Given the description of an element on the screen output the (x, y) to click on. 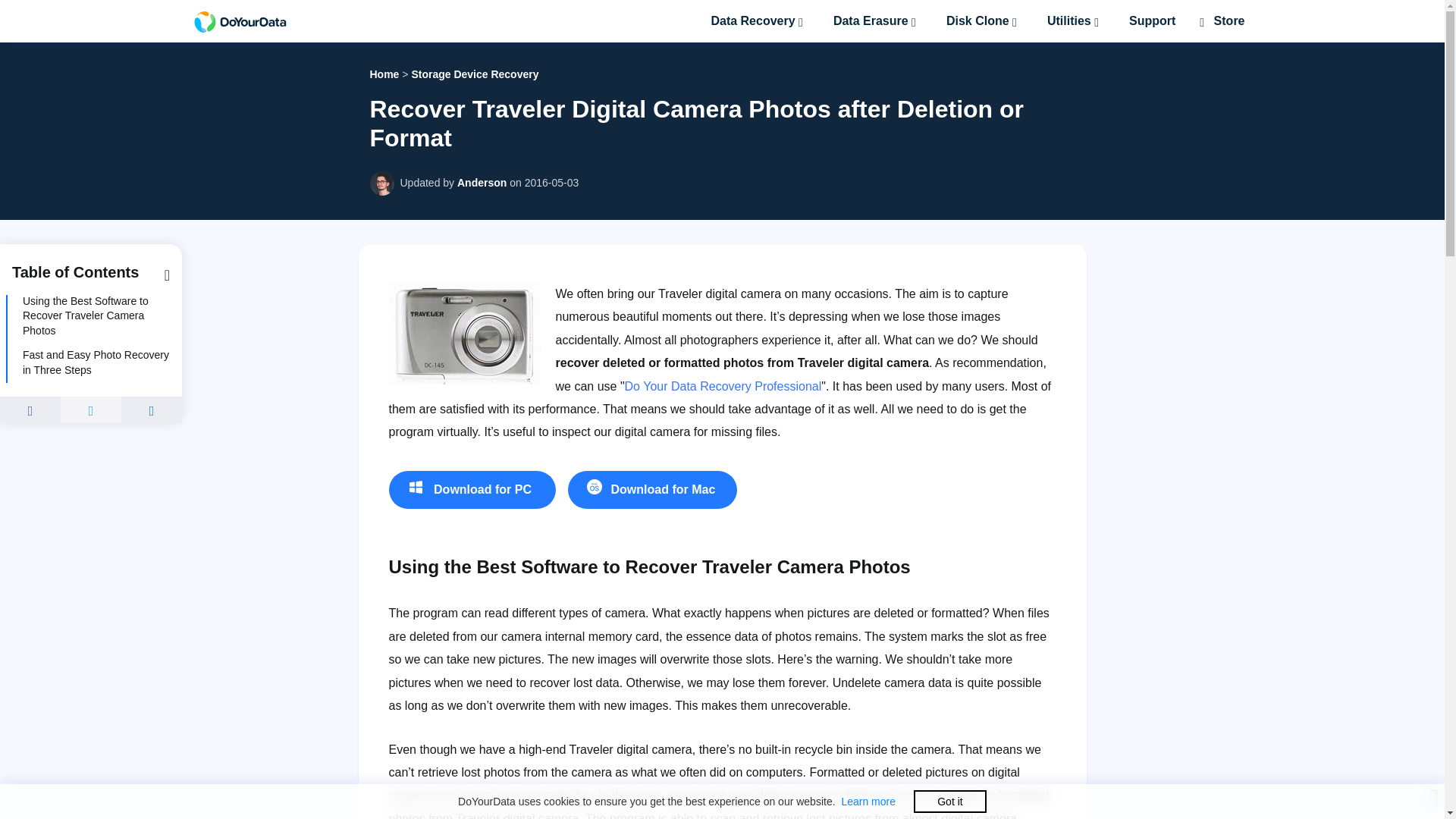
Download for PC (471, 489)
Disk Clone (984, 21)
Utilities (1075, 21)
Do Your Data Recovery Professional (723, 386)
Storage Device Recovery (474, 73)
Support (1152, 21)
Data Erasure (877, 21)
Home (383, 73)
Download for Mac (651, 489)
Data Recovery (759, 21)
